Given the description of an element on the screen output the (x, y) to click on. 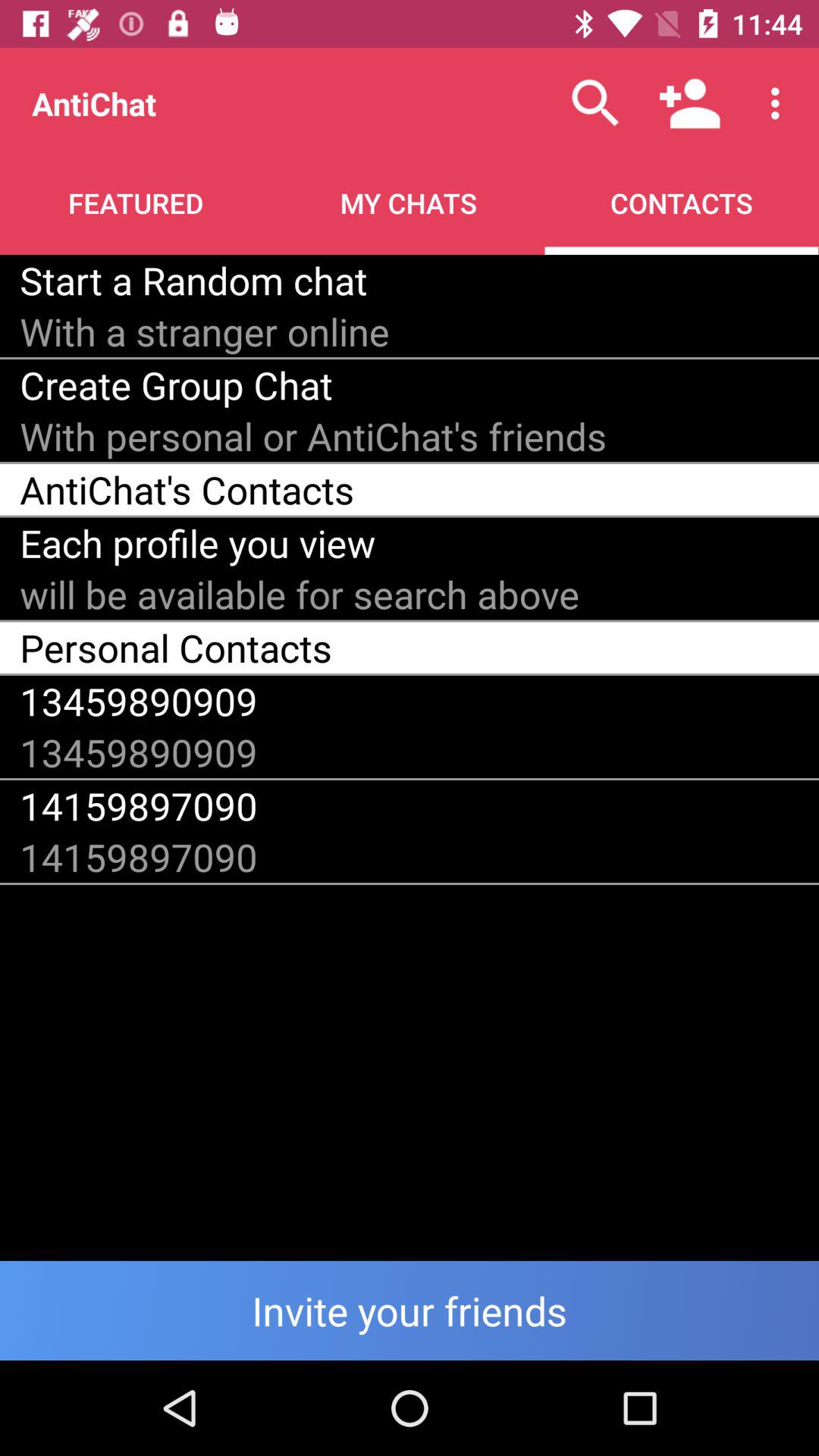
swipe until with a stranger item (204, 331)
